Given the description of an element on the screen output the (x, y) to click on. 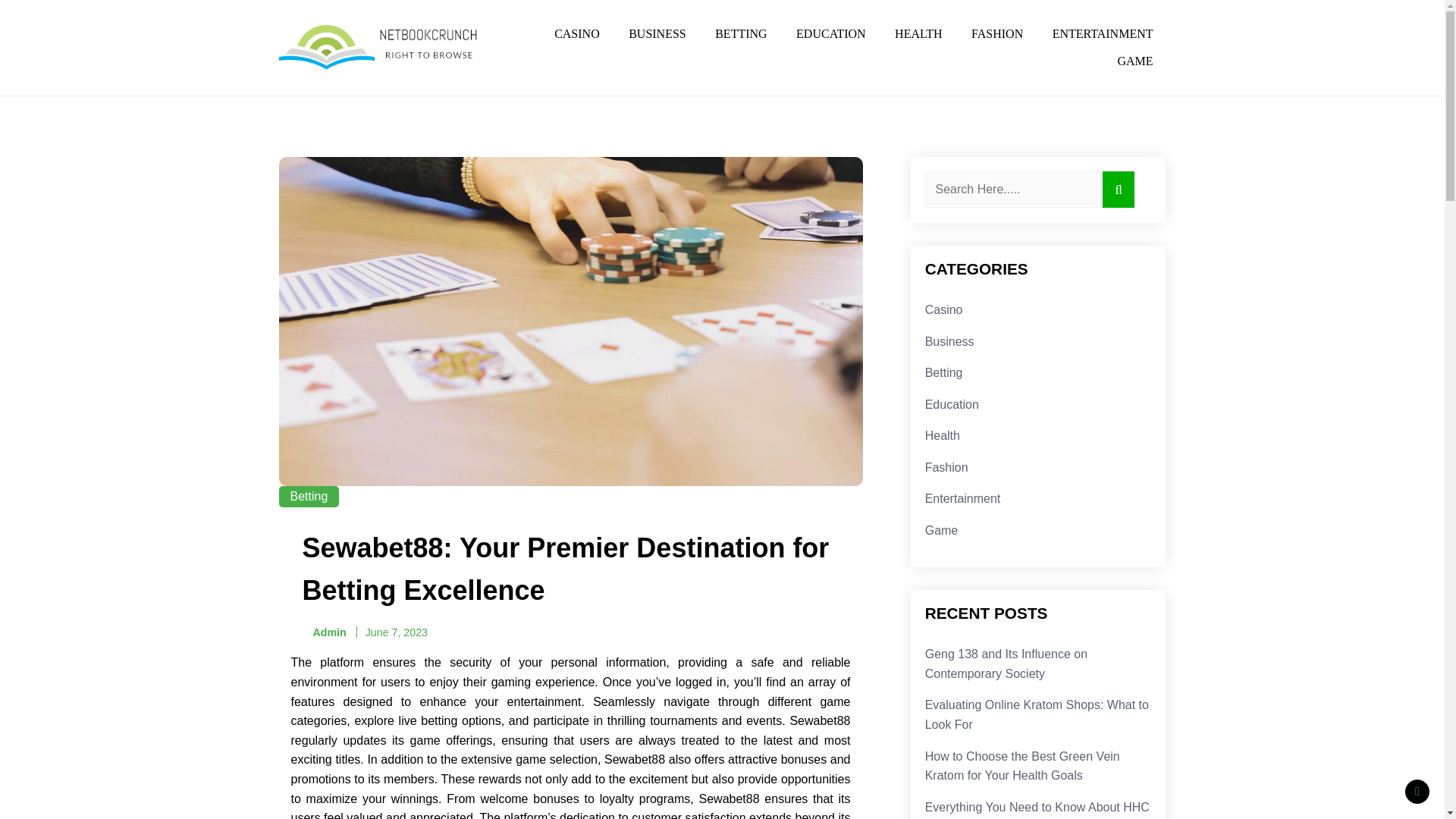
ENTERTAINMENT (1102, 33)
BUSINESS (656, 33)
GAME (1134, 61)
BETTING (739, 33)
EDUCATION (831, 33)
June 7, 2023 (396, 632)
Admin (323, 632)
netbookcrunch (324, 88)
FASHION (996, 33)
Betting (309, 496)
